Given the description of an element on the screen output the (x, y) to click on. 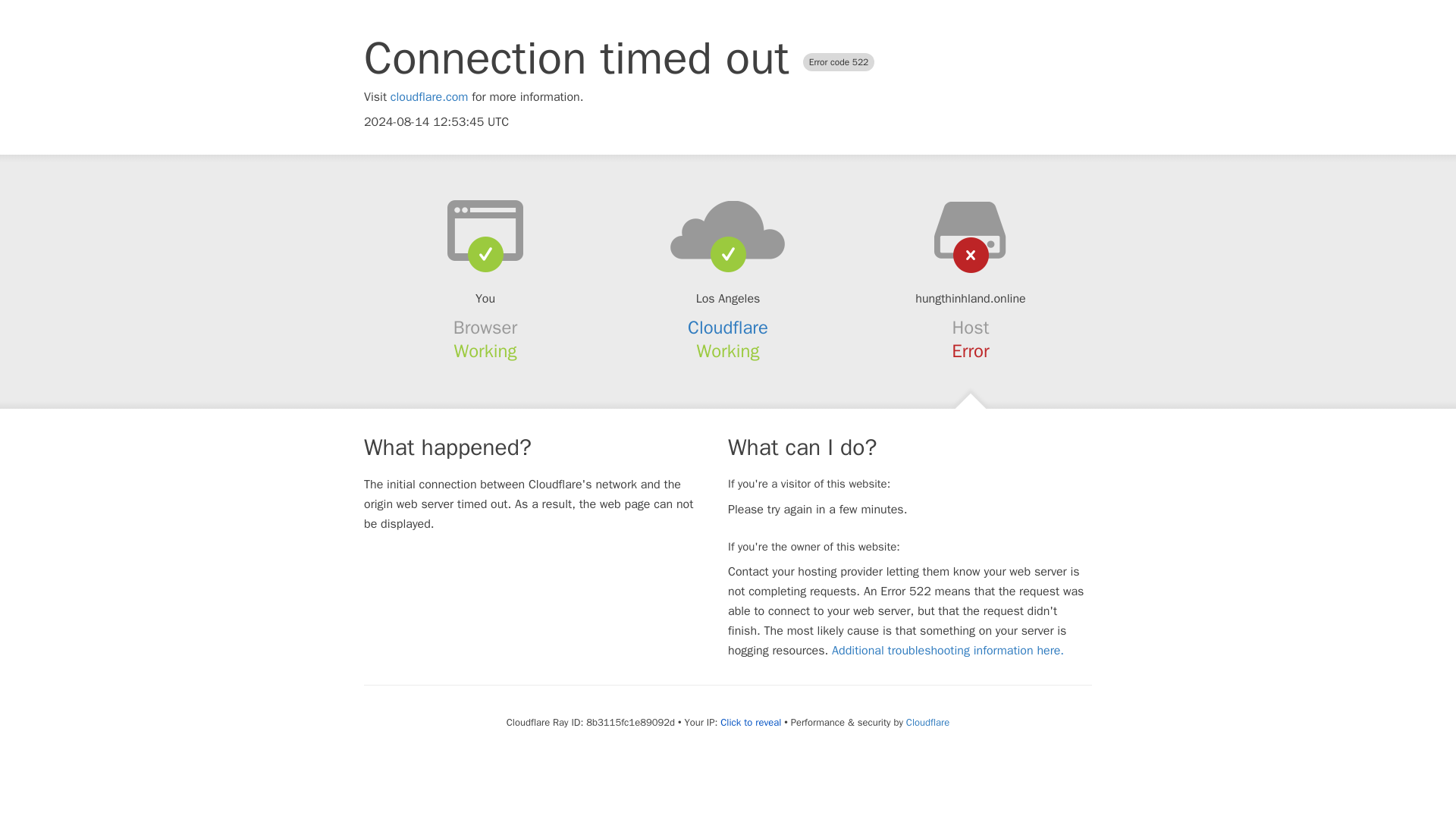
Additional troubleshooting information here. (947, 650)
cloudflare.com (429, 96)
Cloudflare (727, 327)
Click to reveal (750, 722)
Cloudflare (927, 721)
